Given the description of an element on the screen output the (x, y) to click on. 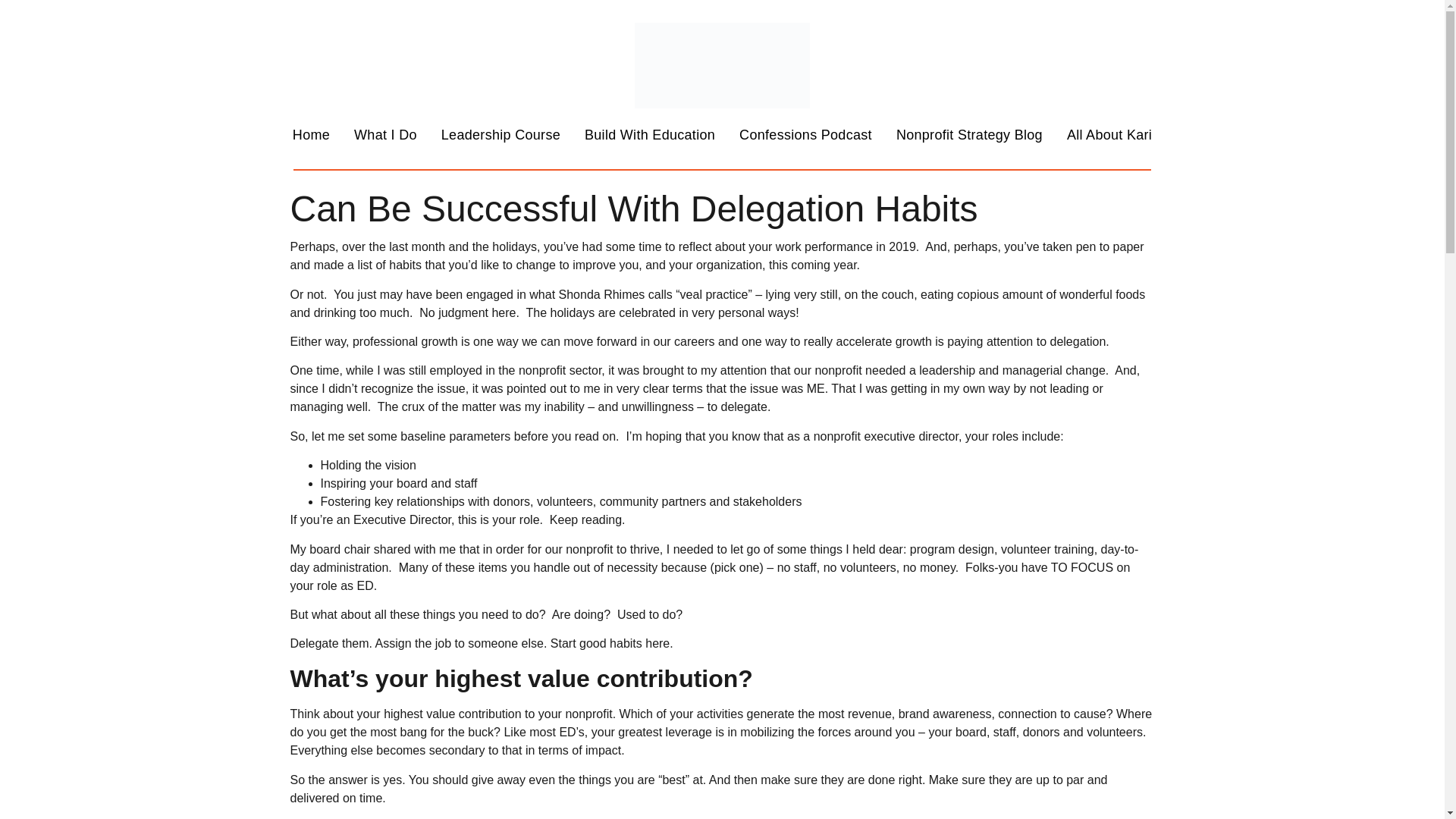
Build With Education (649, 134)
Nonprofit Strategy Blog (968, 134)
Home (311, 134)
Leadership Course (500, 134)
What I Do (385, 134)
Confessions Podcast (804, 134)
All About Kari (1108, 134)
